Given the description of an element on the screen output the (x, y) to click on. 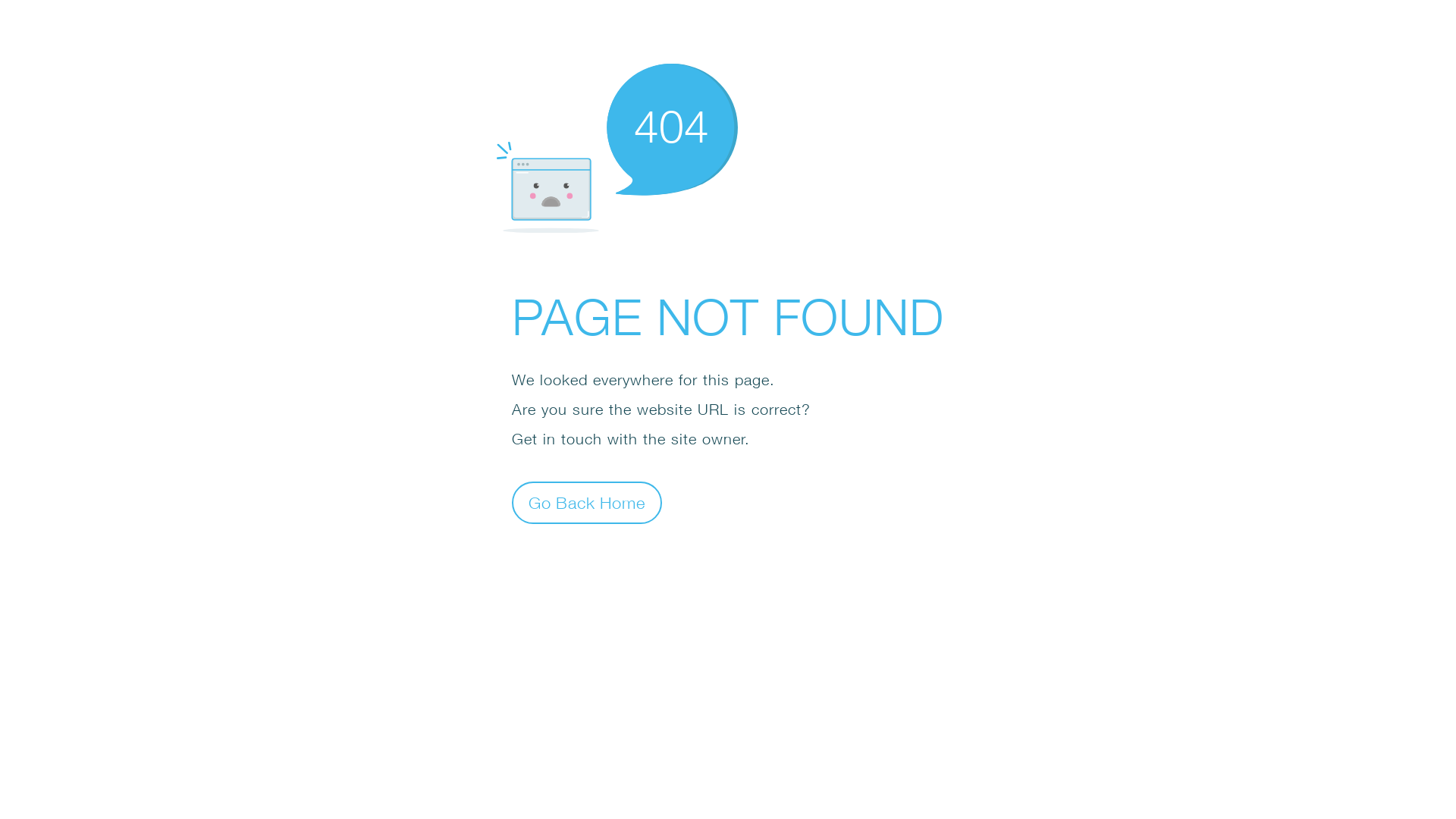
Go Back Home Element type: text (586, 502)
